Given the description of an element on the screen output the (x, y) to click on. 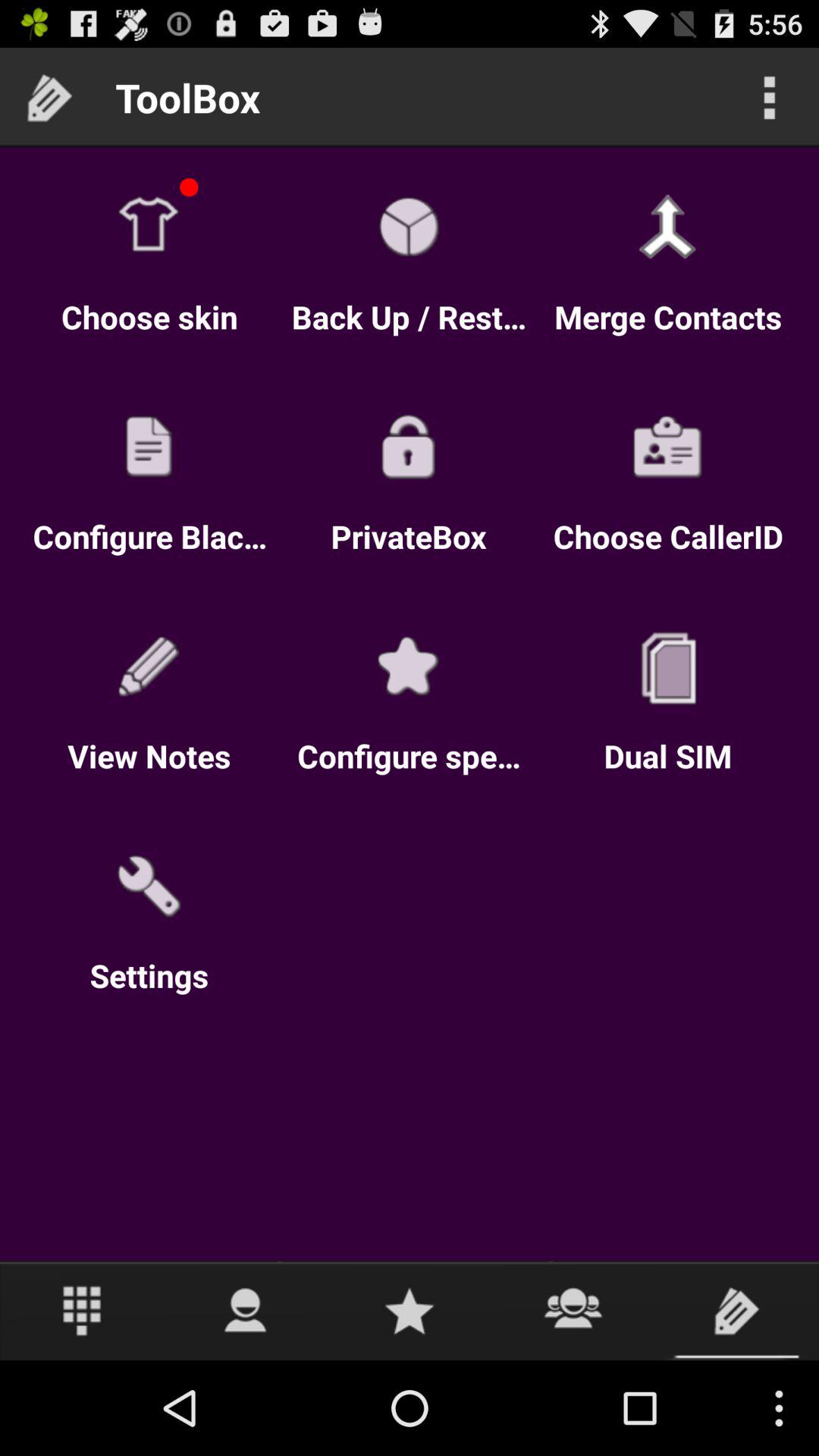
more details (769, 97)
